Given the description of an element on the screen output the (x, y) to click on. 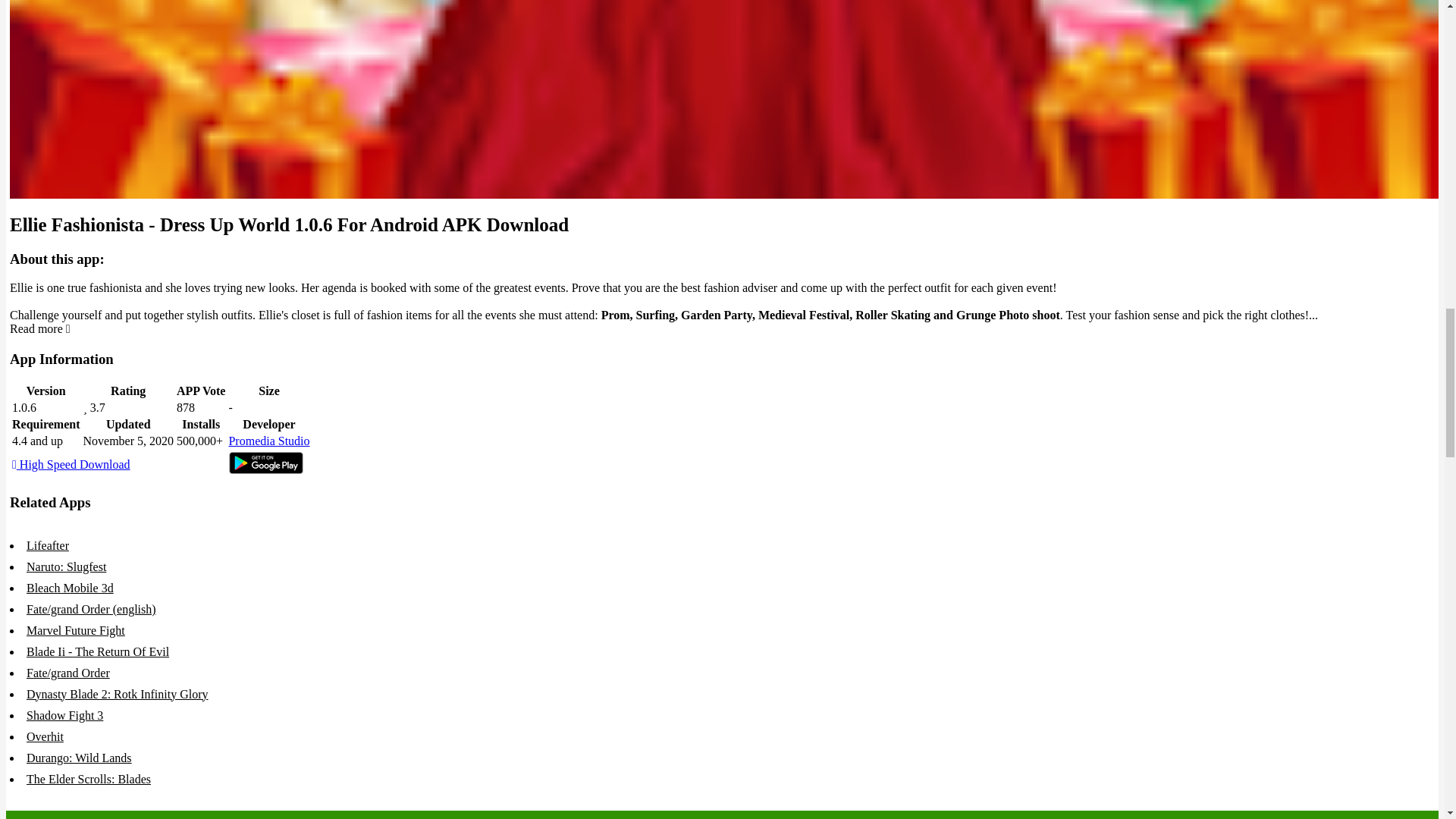
Promedia Studio (268, 440)
High Speed Download (71, 463)
Read more (39, 328)
